Given the description of an element on the screen output the (x, y) to click on. 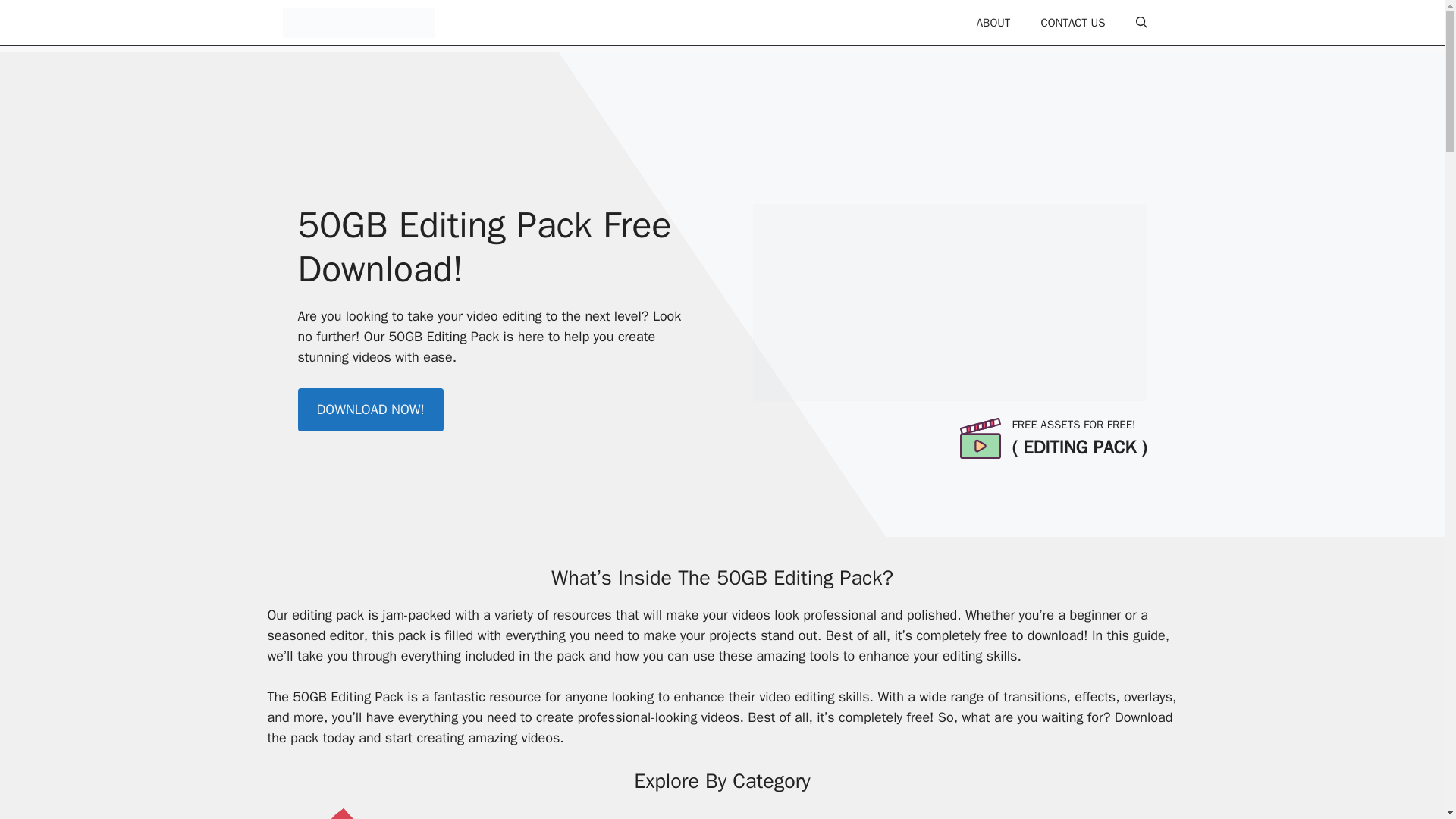
ABOUT (993, 22)
CONTACT US (1072, 22)
DOWNLOAD NOW! (369, 409)
50GB Editing Pack free Download (949, 302)
EducateFarm (357, 22)
